Given the description of an element on the screen output the (x, y) to click on. 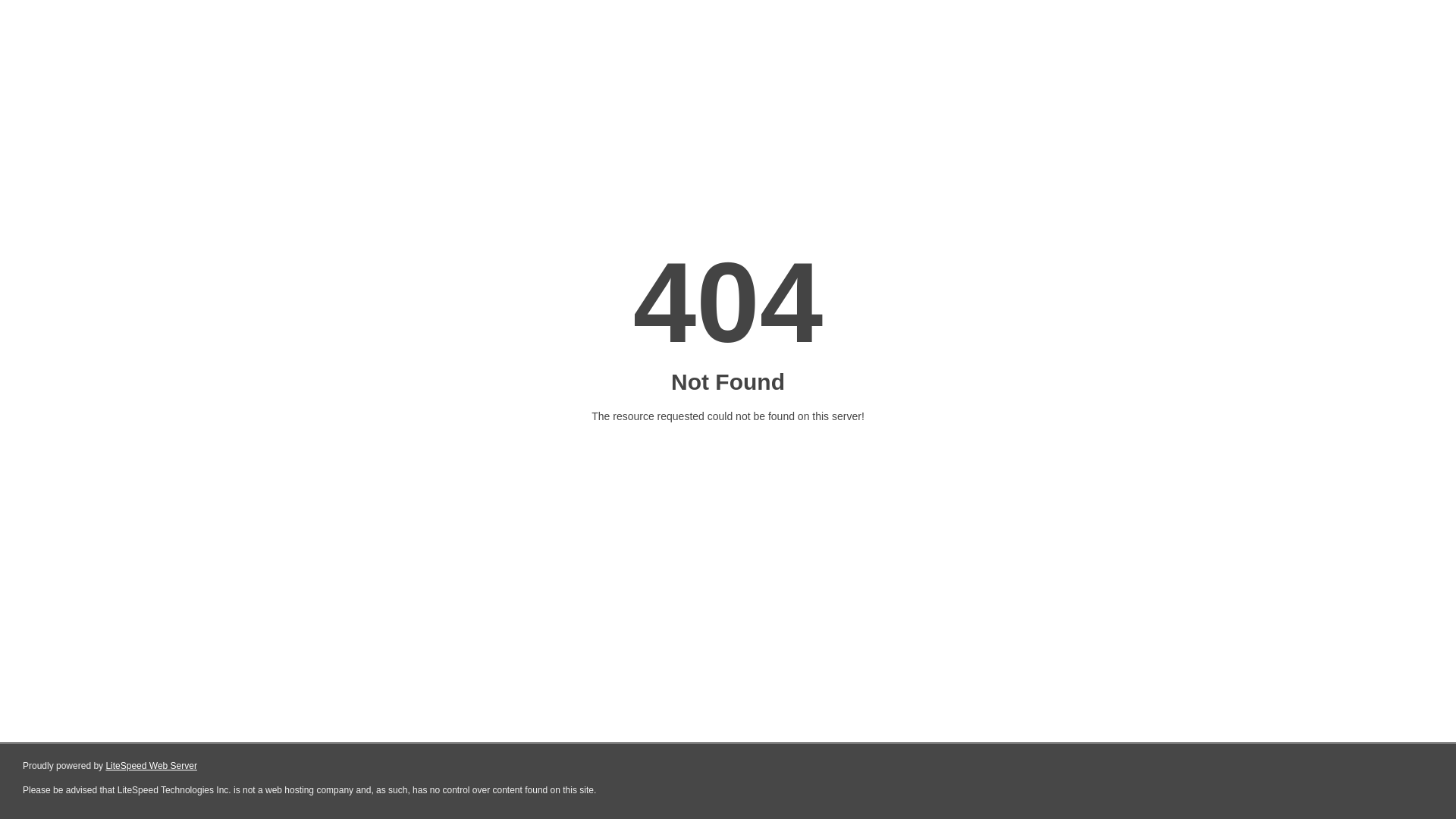
LiteSpeed Web Server Element type: text (151, 765)
